Given the description of an element on the screen output the (x, y) to click on. 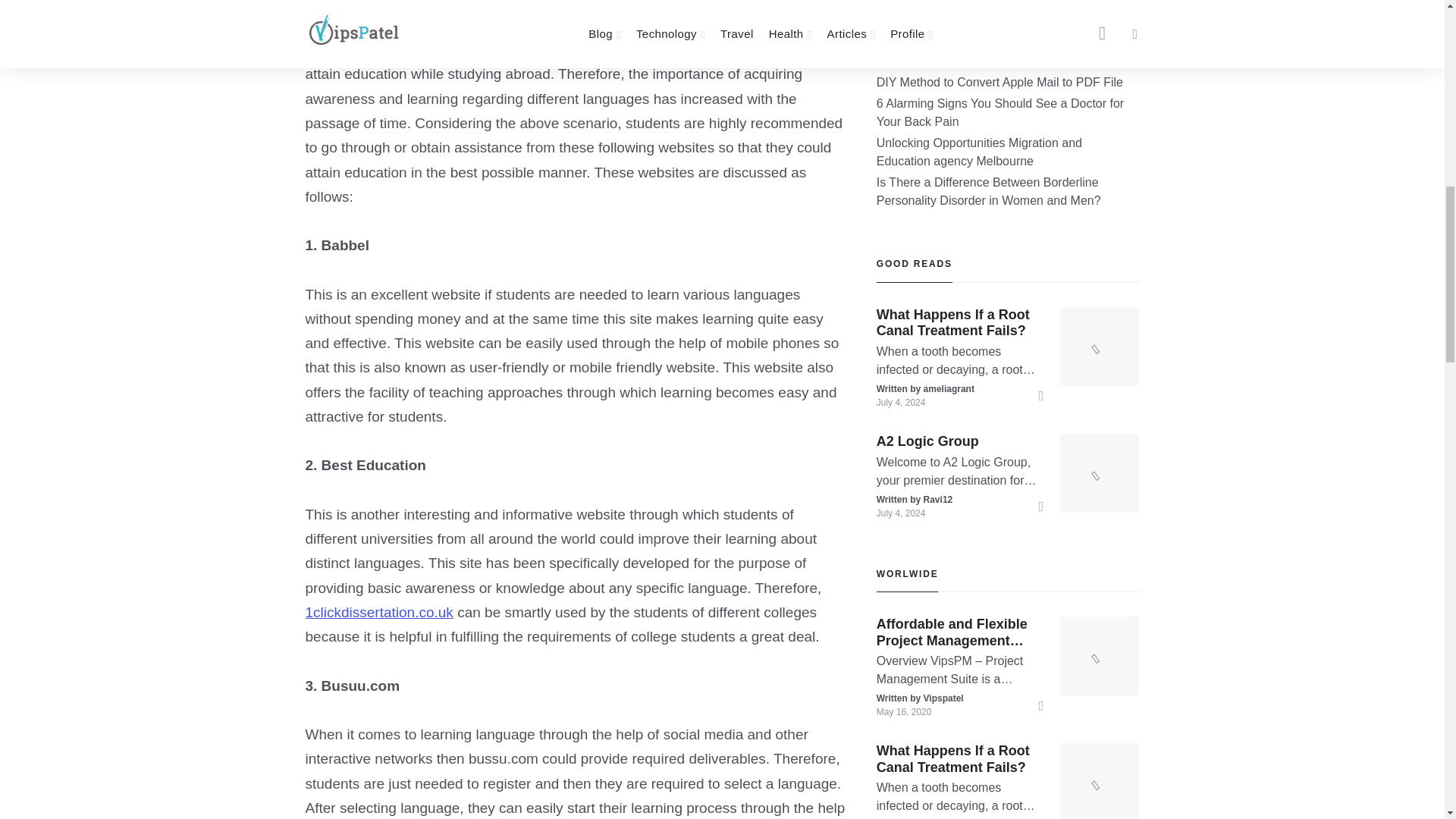
0 (329, 6)
1clickdissertation.co.uk (378, 611)
